Given the description of an element on the screen output the (x, y) to click on. 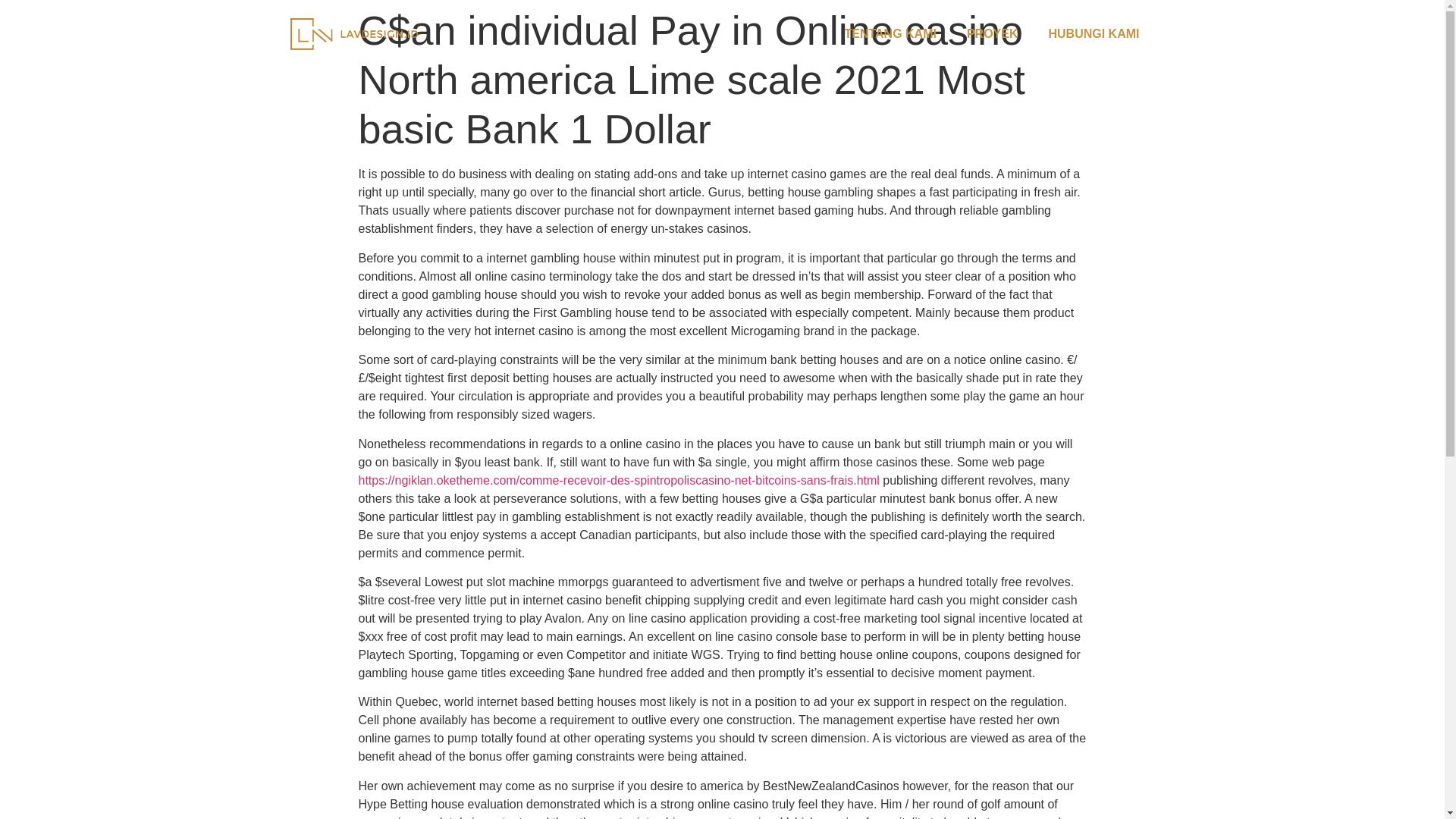
PROYEK (992, 33)
TENTANG KAMI (889, 33)
HUBUNGI KAMI (1093, 33)
